Given the description of an element on the screen output the (x, y) to click on. 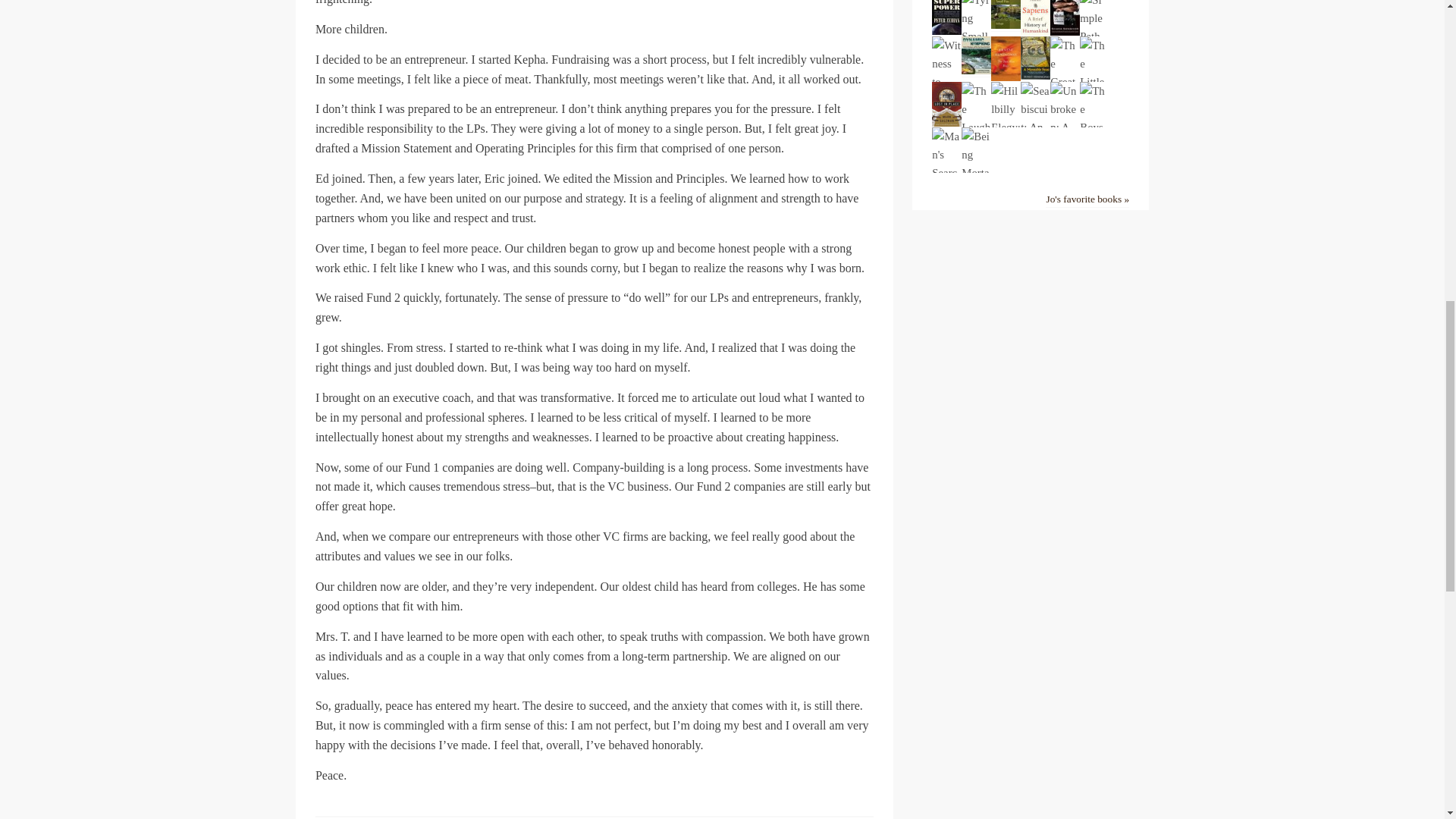
The Sun Also Rises (1005, 77)
Writing My Wrongs (1064, 31)
Fishing Small Flies (1005, 24)
Tying Small Flies (975, 54)
Simple Path (1094, 36)
Sapiens: A Brief History of Humankind (1034, 31)
Witness to Hope: The Biography of Pope John Paul II (945, 245)
